Given the description of an element on the screen output the (x, y) to click on. 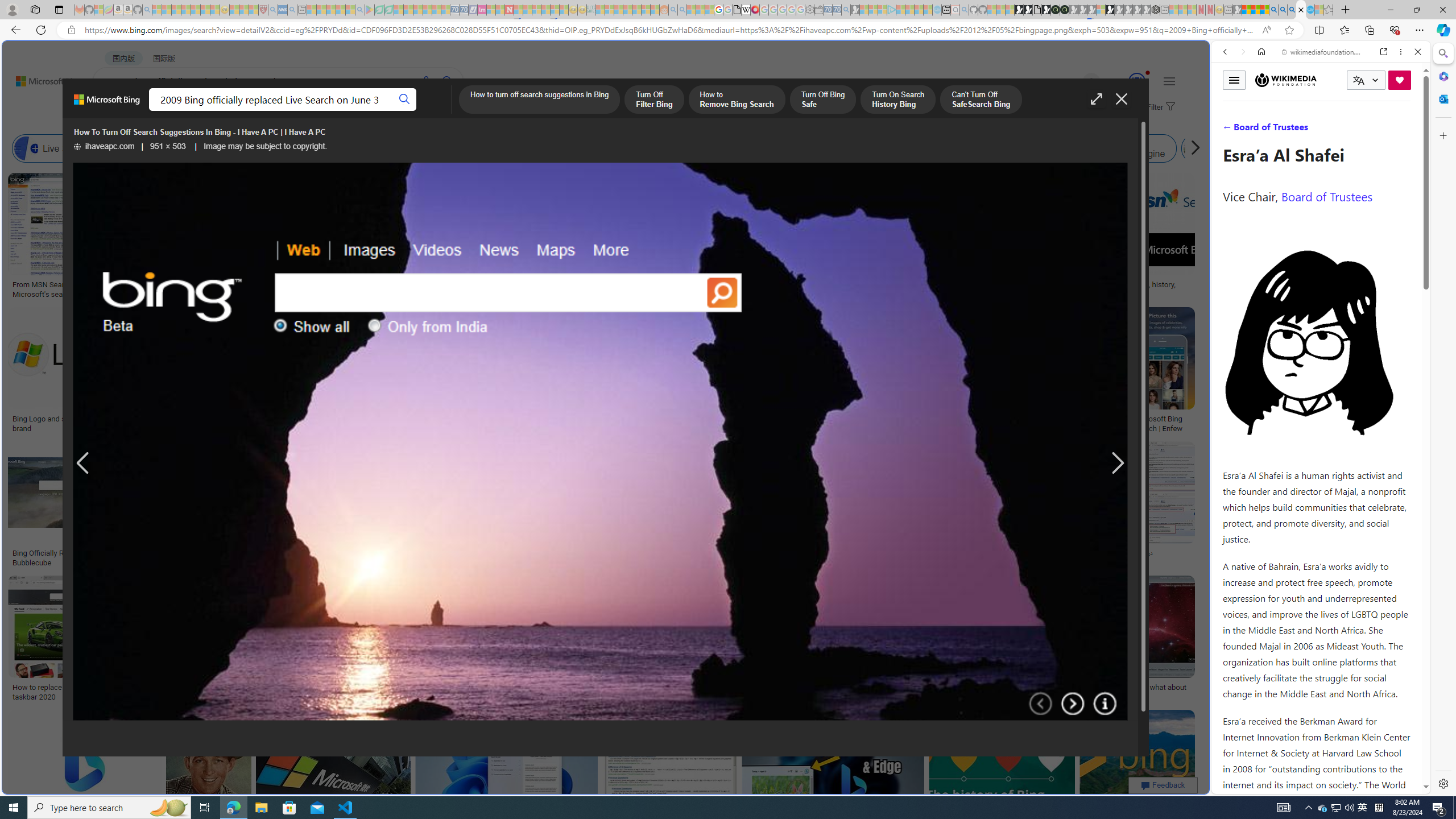
Bing: rebranding search: idsgn (a design blog) (699, 289)
Kinda Frugal - MSN - Sleeping (636, 9)
Microsoft Bing Search | Enfew (1162, 423)
Technology History timeline | Timetoast timelines (833, 289)
